Given the description of an element on the screen output the (x, y) to click on. 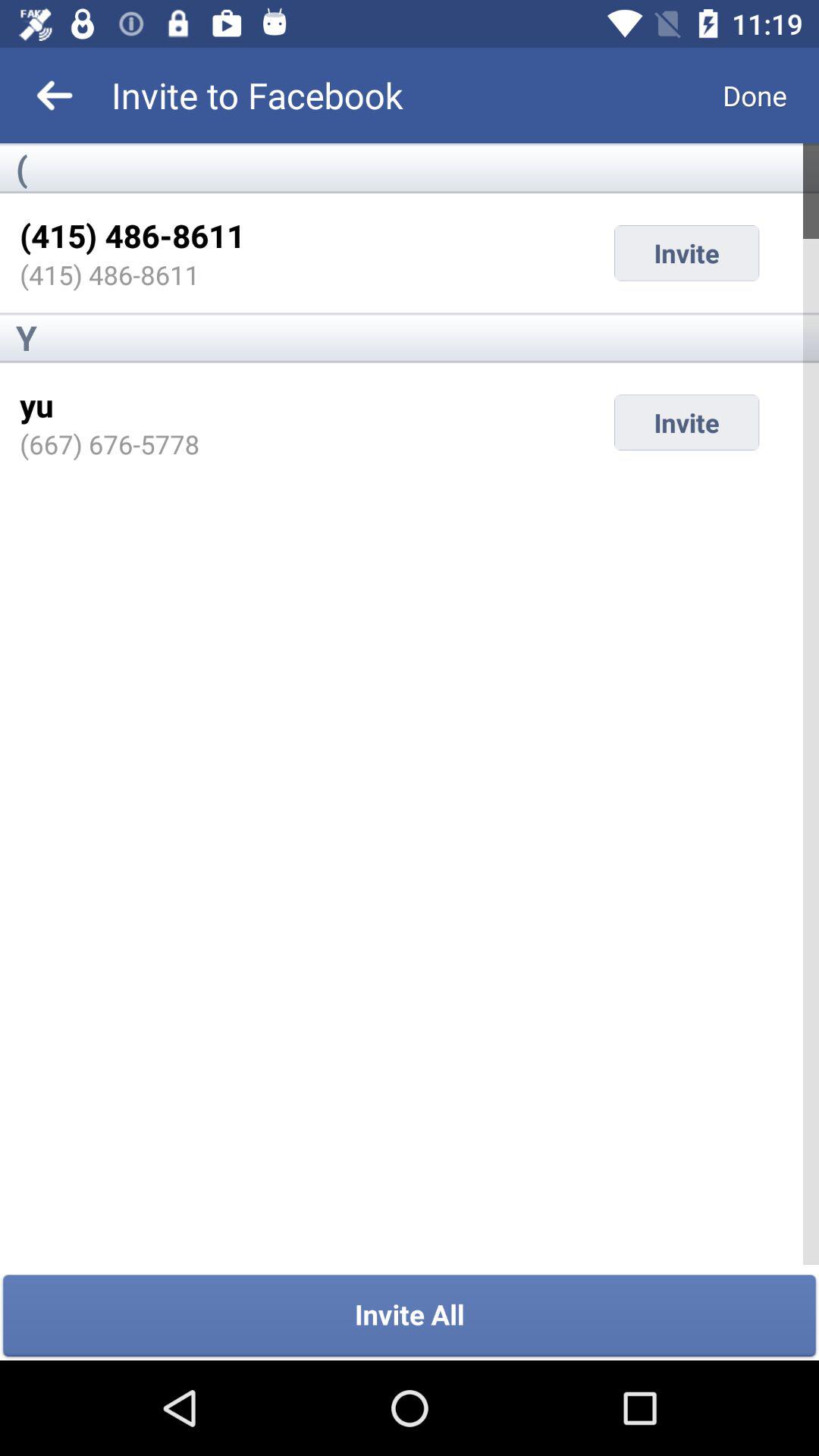
launch invite all item (409, 1316)
